Given the description of an element on the screen output the (x, y) to click on. 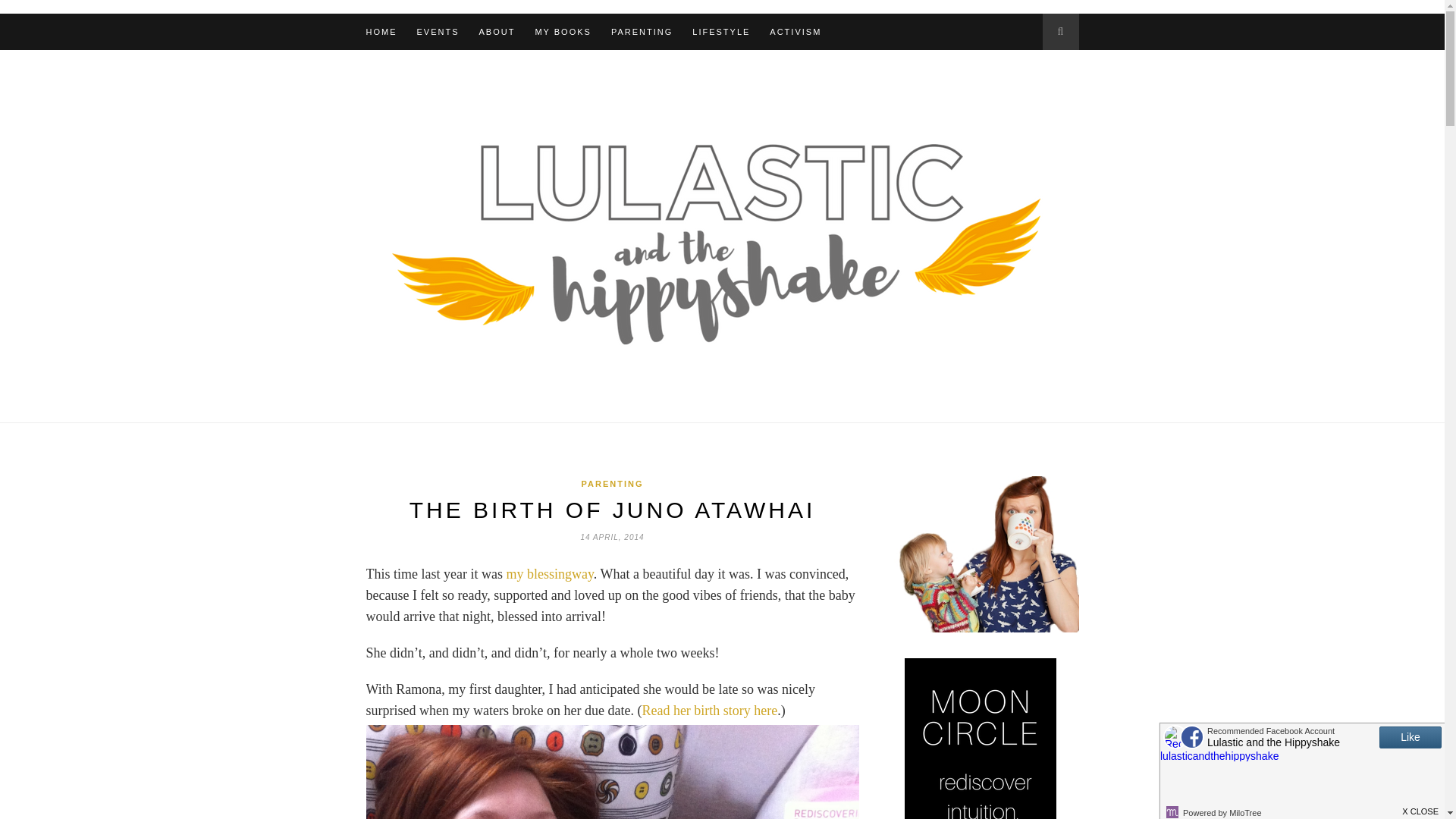
View all posts in Parenting (611, 483)
MY BOOKS (562, 31)
PARENTING (641, 31)
ACTIVISM (795, 31)
LIFESTYLE (721, 31)
EVENTS (438, 31)
ABOUT (497, 31)
